Given the description of an element on the screen output the (x, y) to click on. 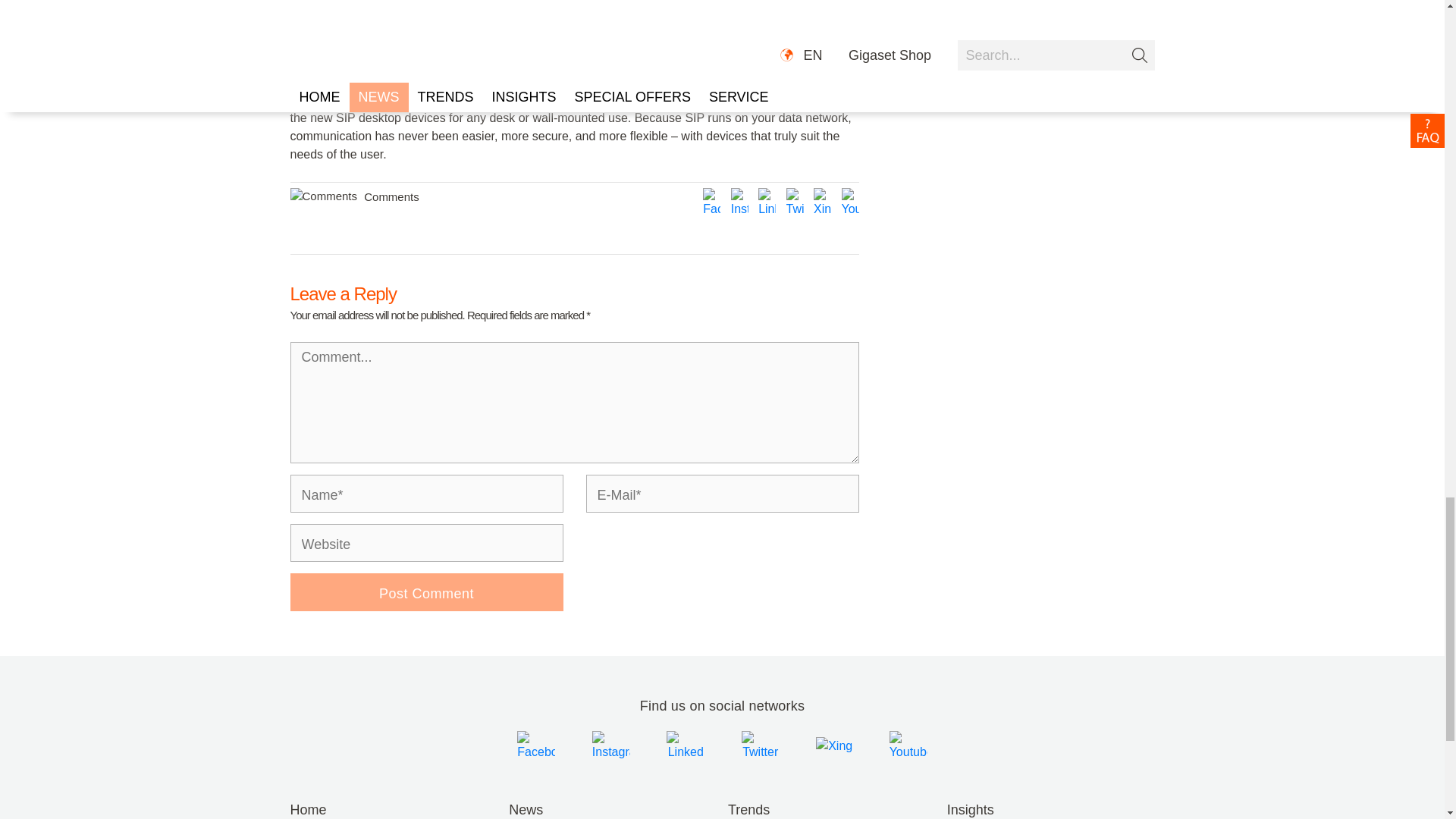
Share on Facebook (709, 201)
Share on Twitter (792, 201)
Share on Linked (764, 201)
Instagram (737, 201)
Share on Xing (820, 201)
Post Comment (425, 591)
Youtube (846, 201)
